Given the description of an element on the screen output the (x, y) to click on. 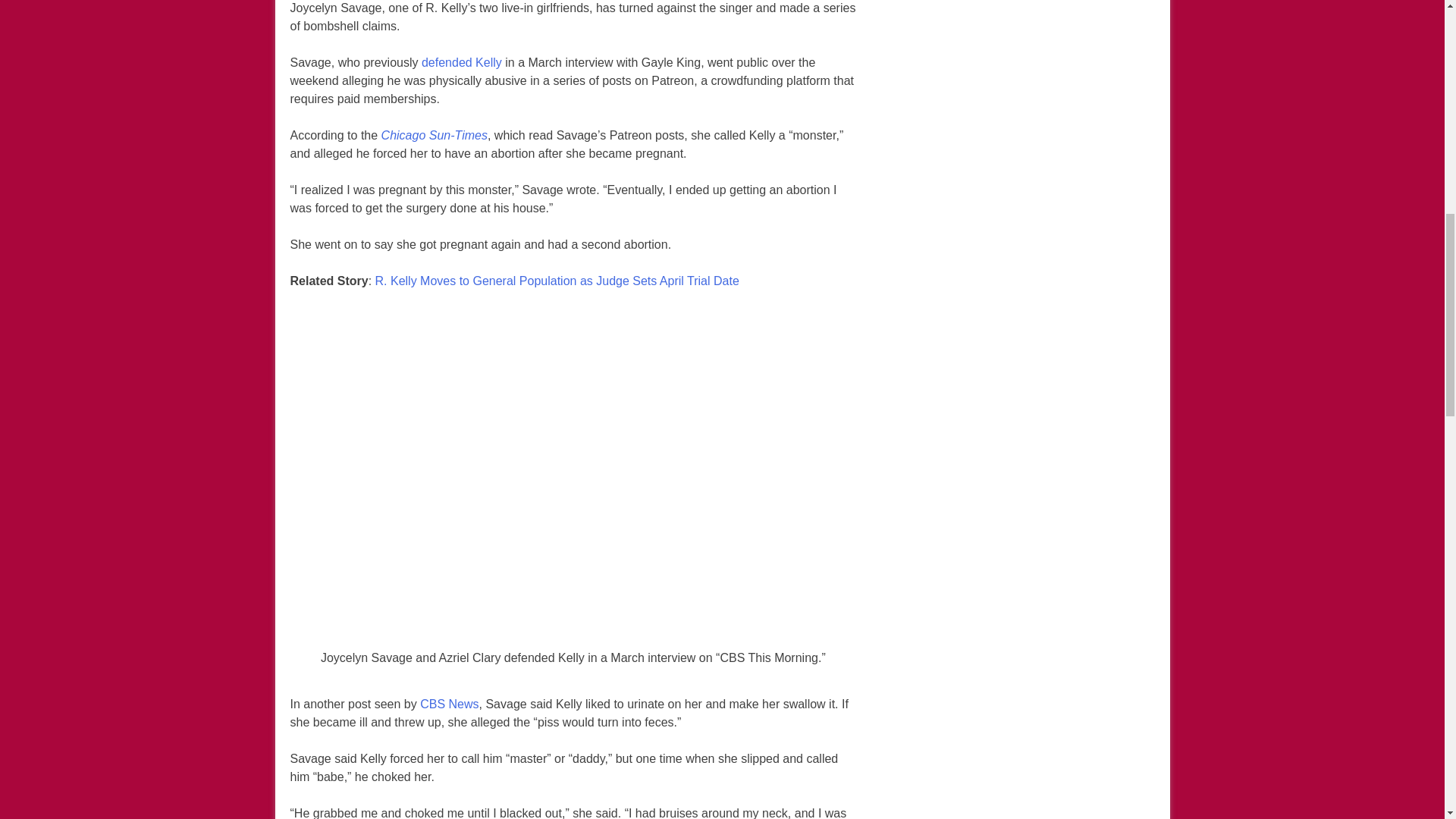
CBS News (449, 704)
defended Kelly (462, 63)
Chicago Sun-Times (434, 135)
